Given the description of an element on the screen output the (x, y) to click on. 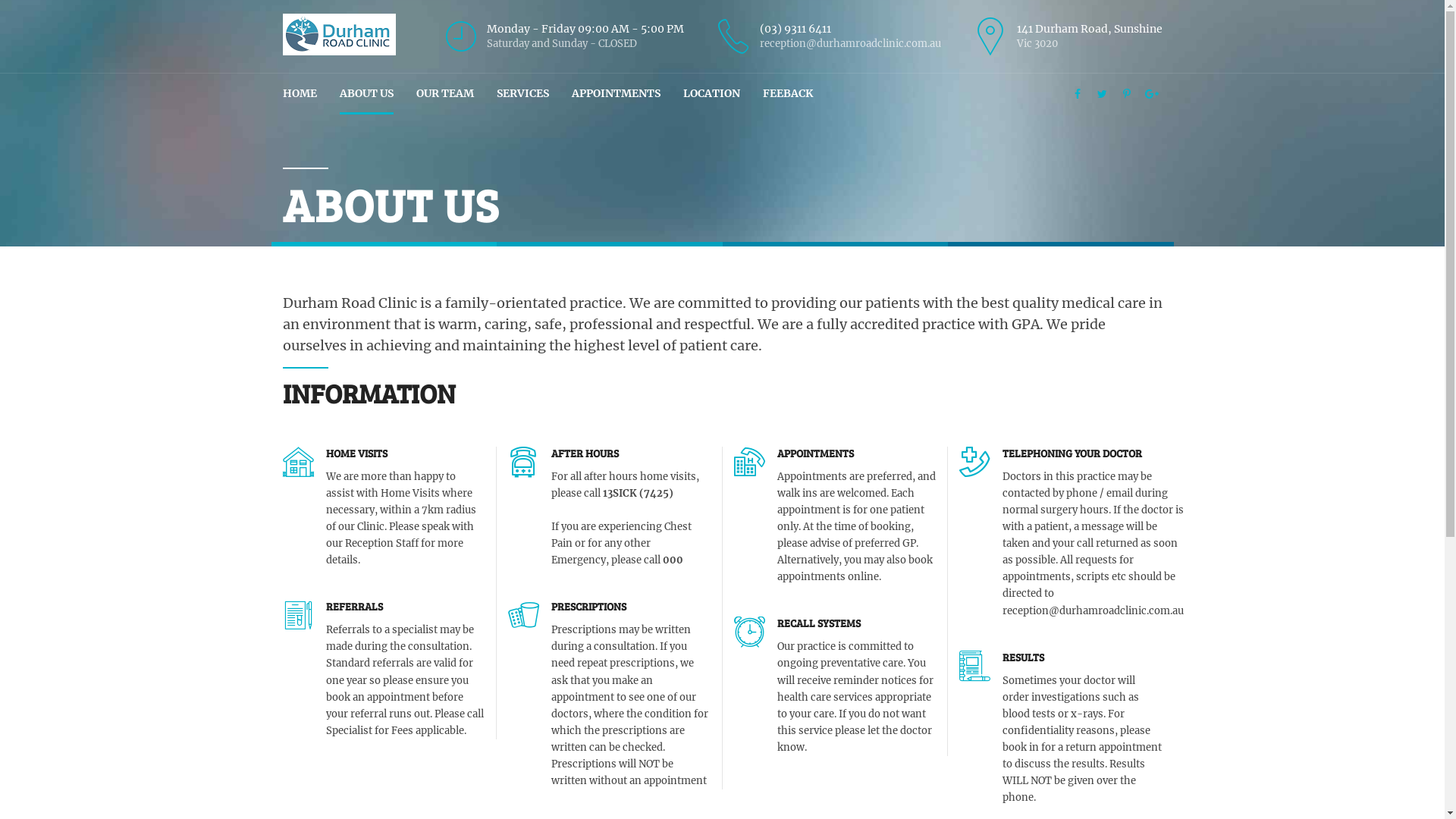
LOCATION Element type: text (710, 93)
OUR TEAM Element type: text (444, 93)
ABOUT US Element type: text (366, 93)
(03) 9311 6411
reception@durhamroadclinic.com.au Element type: text (825, 36)
APPOINTMENTS Element type: text (615, 93)
FEEBACK Element type: text (787, 93)
HOME Element type: text (299, 93)
SERVICES Element type: text (521, 93)
